Given the description of an element on the screen output the (x, y) to click on. 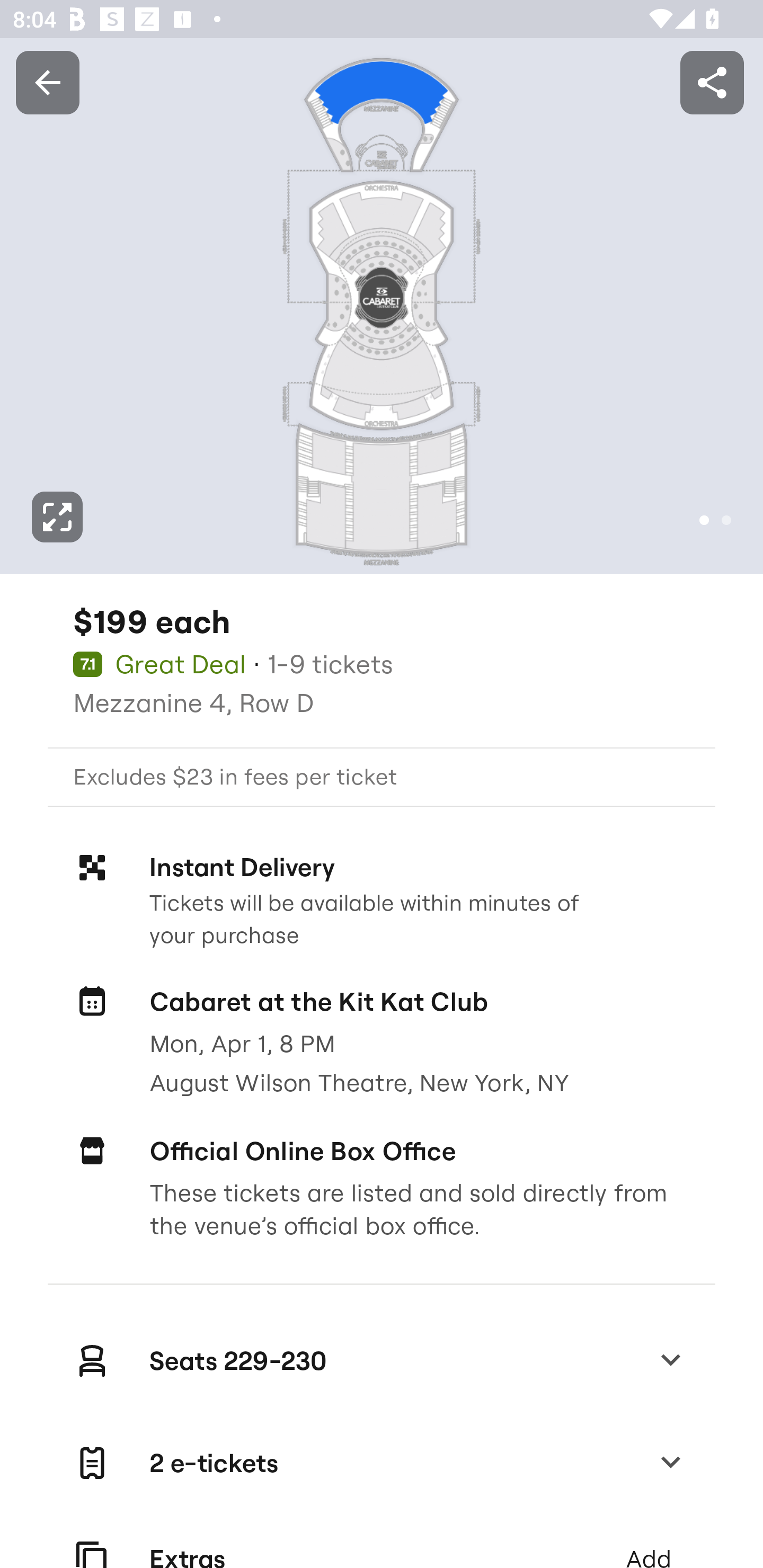
Back (47, 81)
Share (711, 81)
Expand image to fullscreen (57, 517)
Seats 229-230 Expand to show options (381, 1360)
2 e-tickets Expand to show options (381, 1463)
Extras Add (381, 1541)
Add (647, 1541)
